Given the description of an element on the screen output the (x, y) to click on. 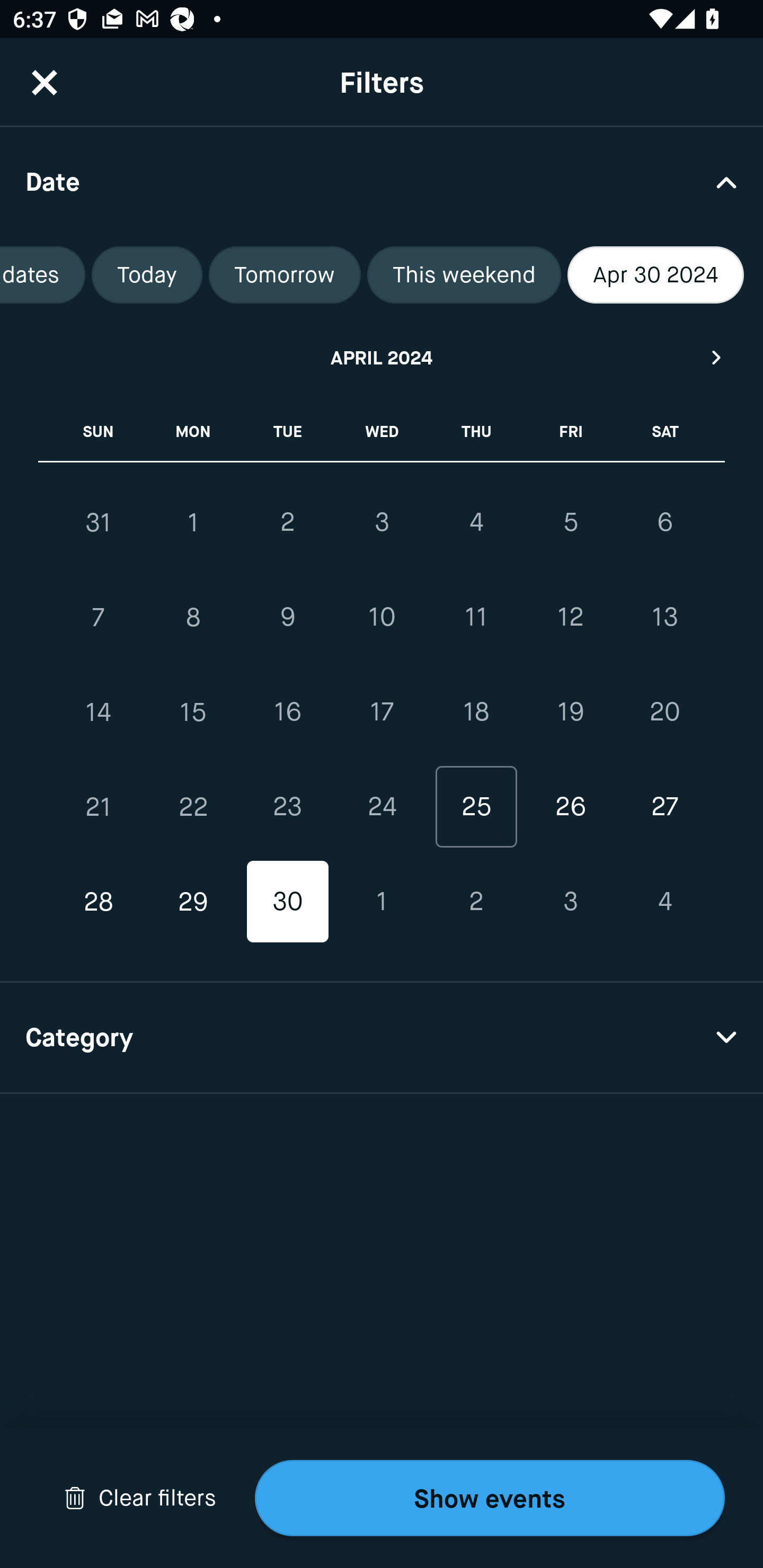
CloseButton (44, 82)
Date Drop Down Arrow (381, 181)
All dates (42, 274)
Today (146, 274)
Tomorrow (284, 274)
This weekend (463, 274)
Apr 30 2024 (655, 274)
Next (717, 357)
31 (98, 522)
1 (192, 522)
2 (287, 522)
3 (381, 522)
4 (475, 522)
5 (570, 522)
6 (664, 522)
7 (98, 617)
8 (192, 617)
9 (287, 617)
10 (381, 617)
11 (475, 617)
12 (570, 617)
13 (664, 617)
14 (98, 711)
15 (192, 711)
16 (287, 711)
17 (381, 711)
18 (475, 711)
19 (570, 711)
20 (664, 711)
21 (98, 806)
22 (192, 806)
23 (287, 806)
24 (381, 806)
25 (475, 806)
26 (570, 806)
27 (664, 806)
28 (98, 901)
29 (192, 901)
30 (287, 901)
1 (381, 901)
2 (475, 901)
3 (570, 901)
4 (664, 901)
Category Drop Down Arrow (381, 1038)
Drop Down Arrow Clear filters (139, 1497)
Show events (489, 1497)
